Given the description of an element on the screen output the (x, y) to click on. 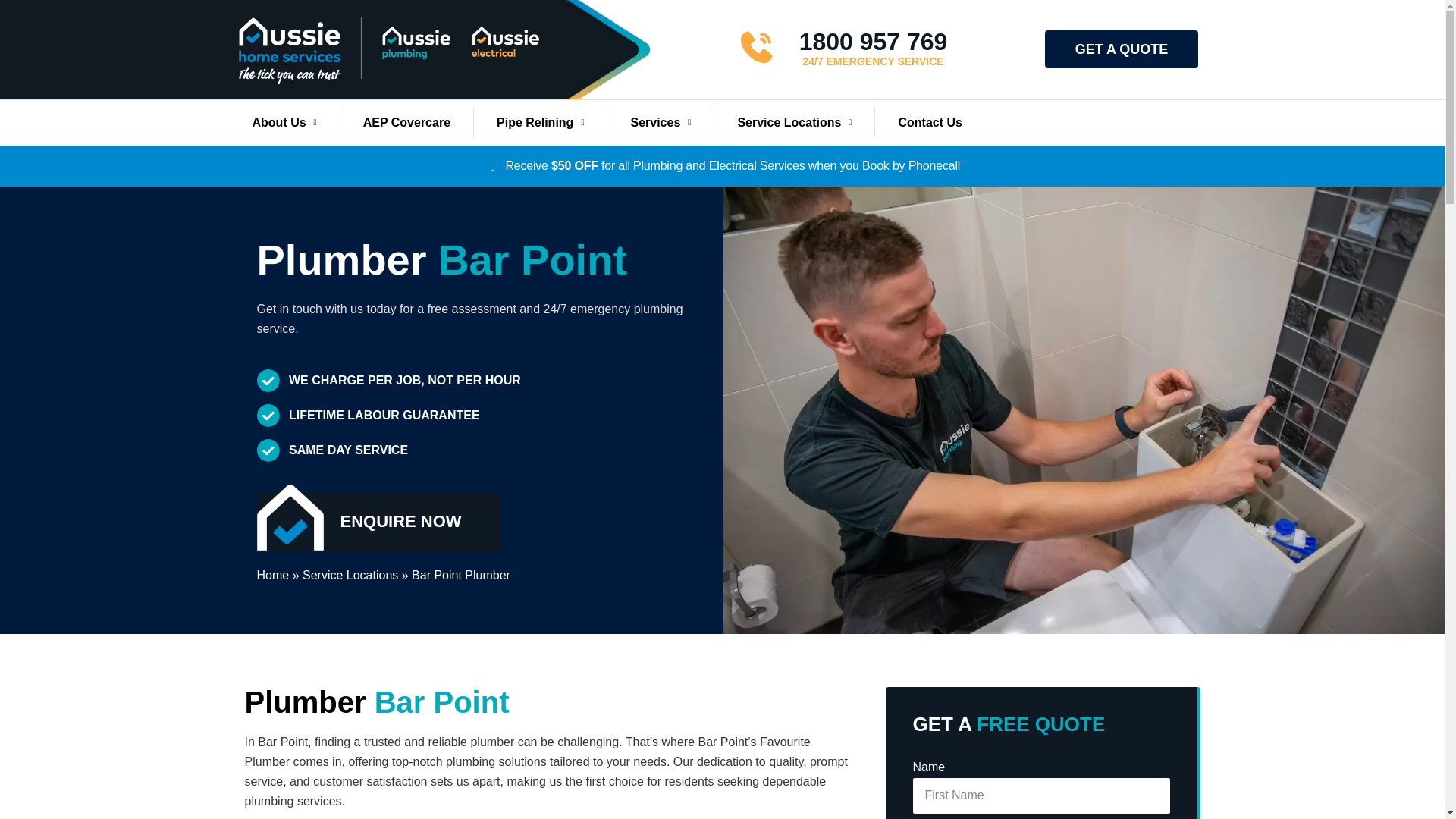
Pipe Relining (540, 122)
GET A QUOTE (1121, 48)
Services (660, 122)
About Us (283, 122)
AEP Covercare (406, 122)
1800 957 769 (873, 41)
